Given the description of an element on the screen output the (x, y) to click on. 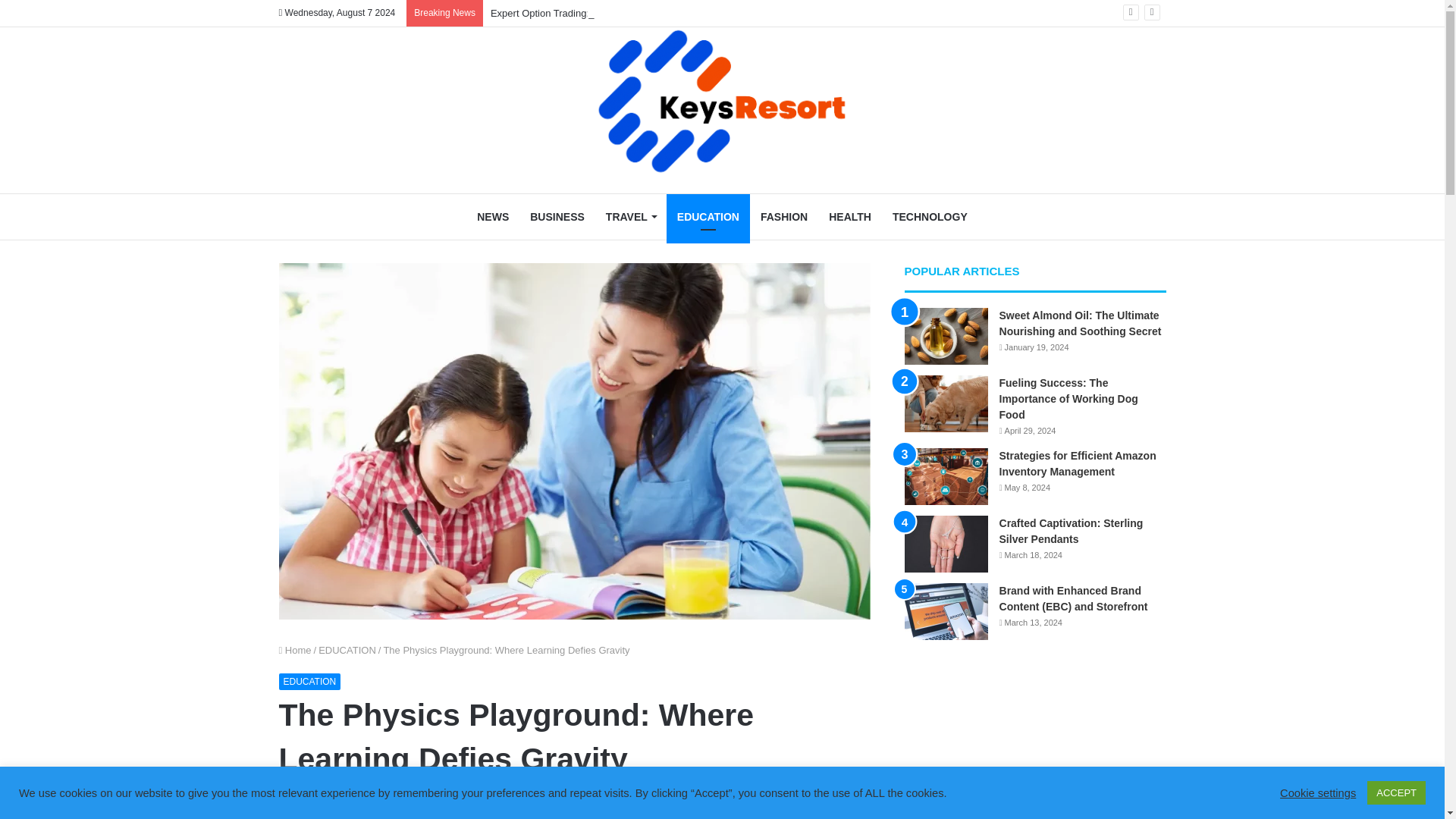
TECHNOLOGY (930, 216)
EDUCATION (309, 681)
EDUCATION (707, 216)
TRAVEL (630, 216)
EDUCATION (346, 650)
AxisSM (298, 801)
Home (295, 650)
AxisSM (298, 801)
HEALTH (850, 216)
keys Resort (721, 102)
